Given the description of an element on the screen output the (x, y) to click on. 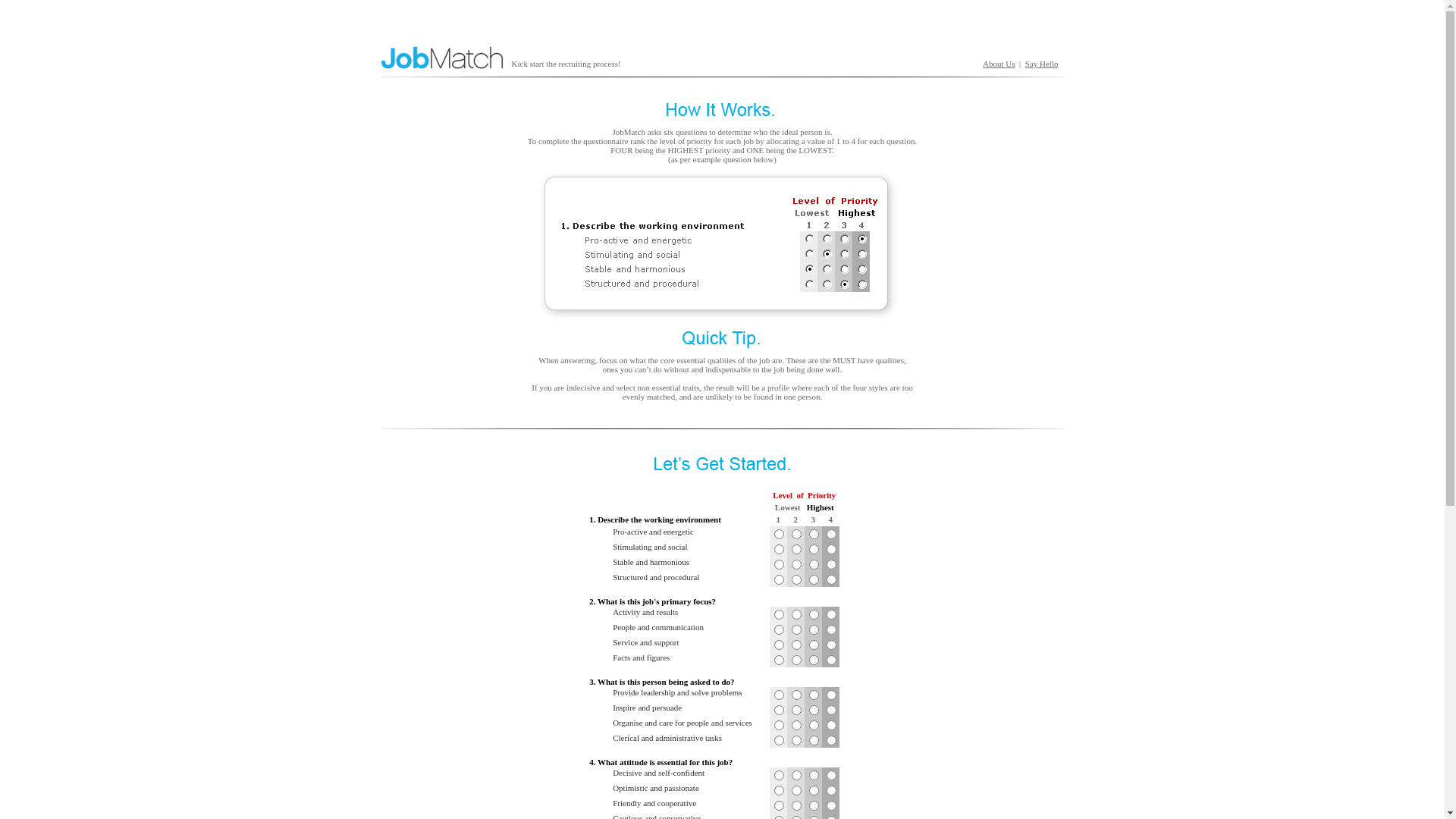
Say Hello Element type: text (1041, 63)
About Us Element type: text (998, 63)
